Given the description of an element on the screen output the (x, y) to click on. 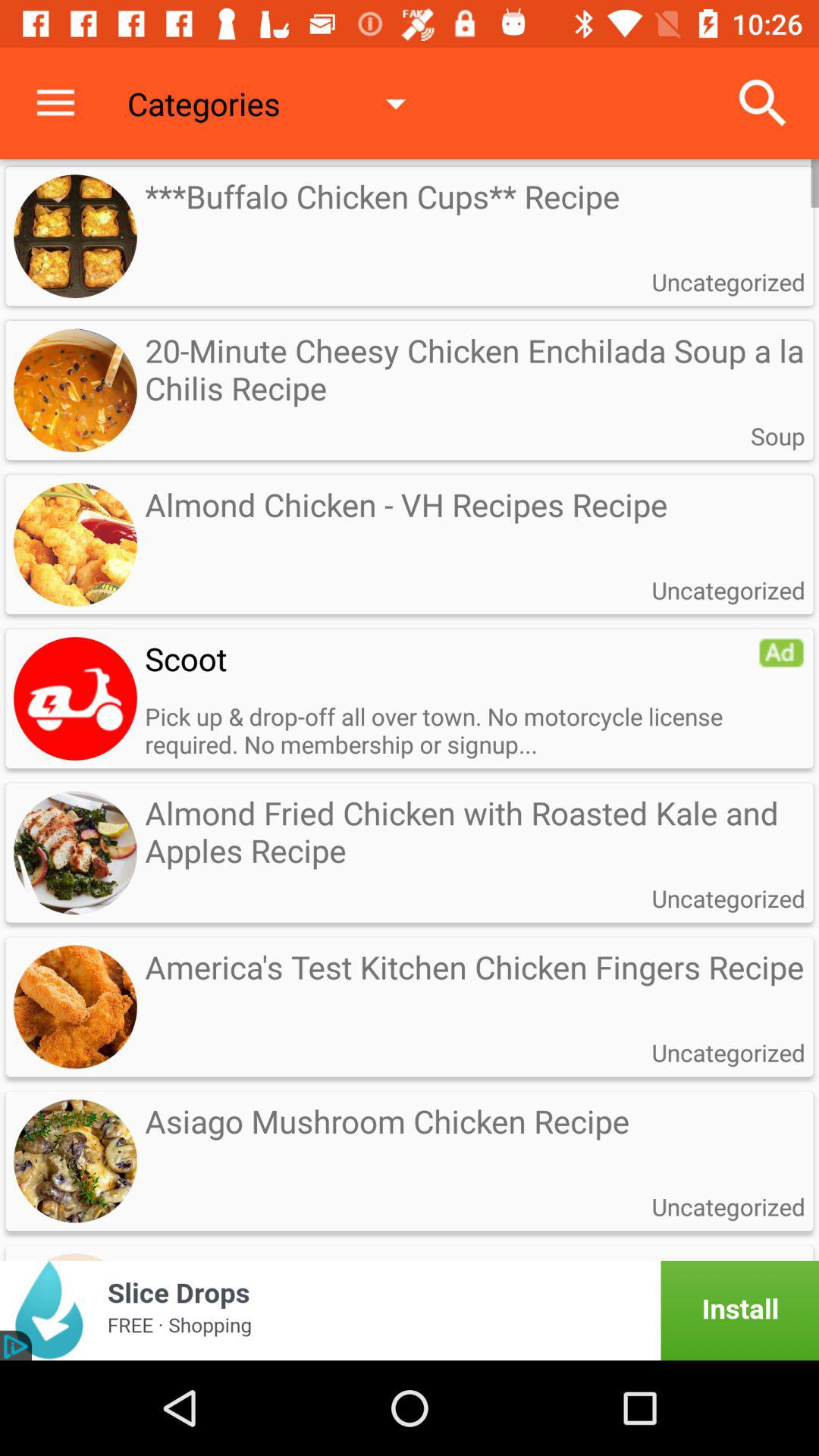
advertisement (75, 698)
